Given the description of an element on the screen output the (x, y) to click on. 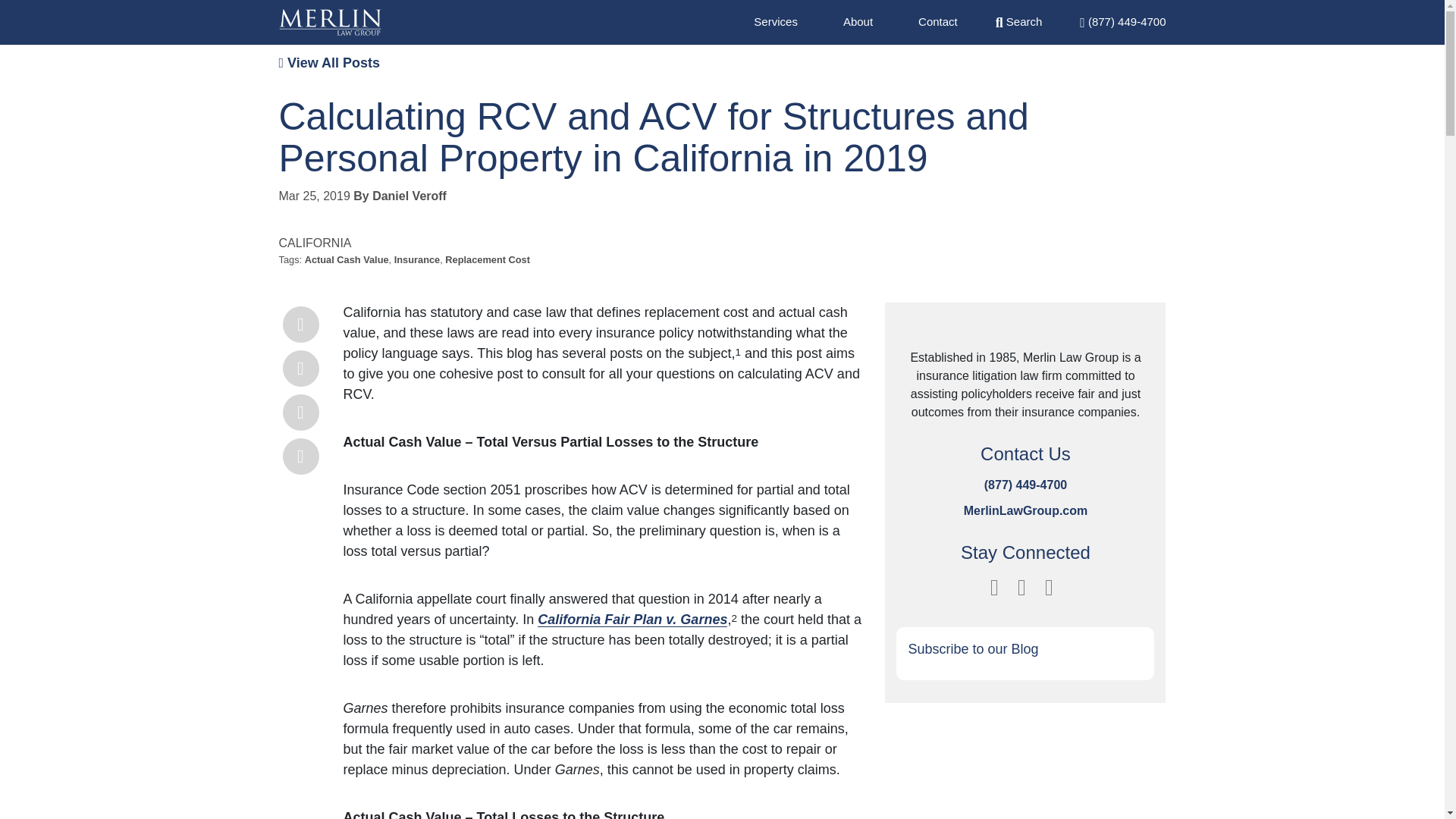
Search (1018, 21)
California Fair Plan v. Garnes (631, 619)
View All Posts (329, 62)
Insurance (416, 259)
MerlinLawGroup.com (1025, 510)
Menu (1123, 21)
Services (775, 21)
About (857, 21)
By Daniel Veroff (399, 195)
CALIFORNIA (315, 242)
